Given the description of an element on the screen output the (x, y) to click on. 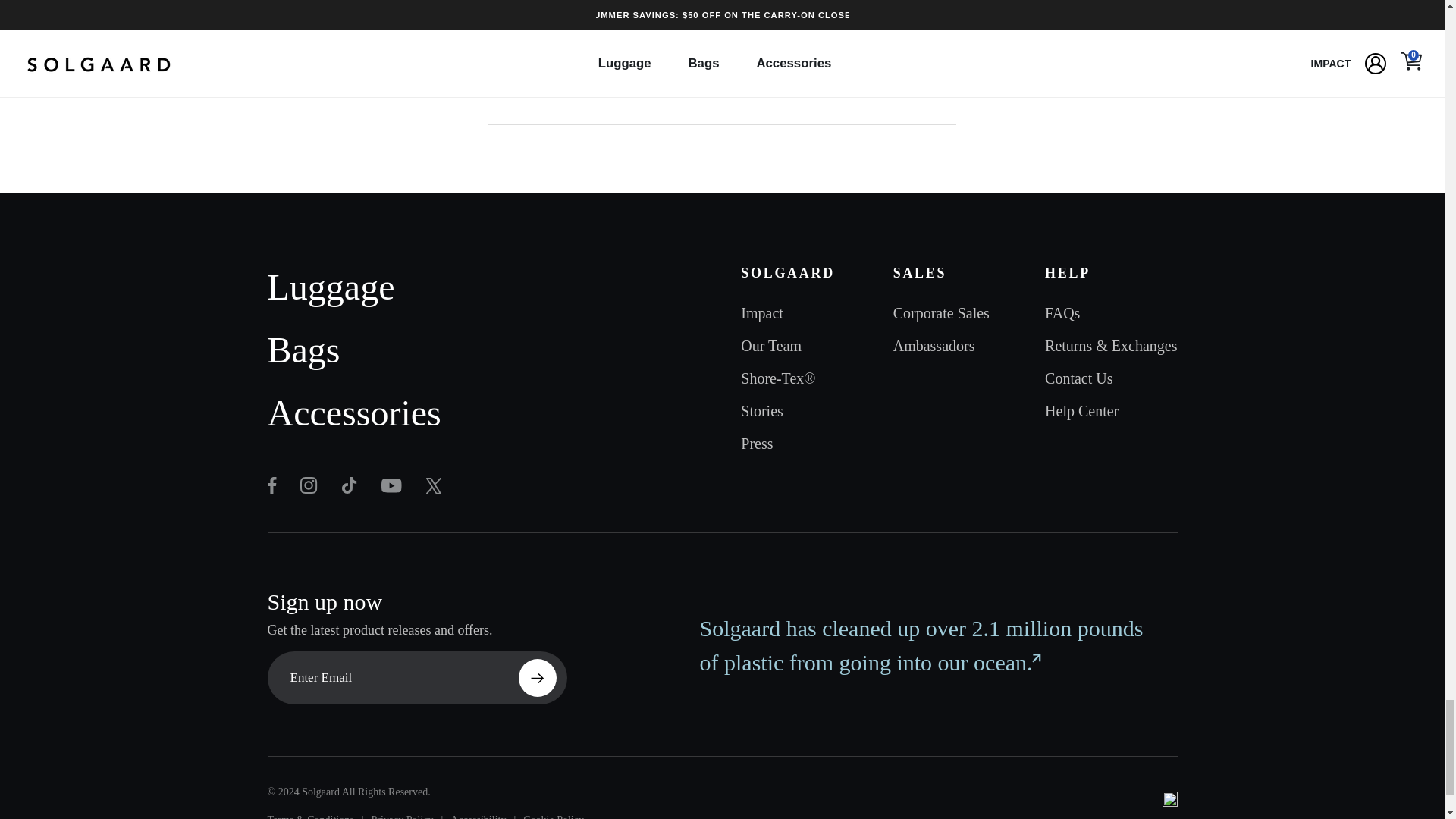
Solgaard Twitter (391, 485)
Solgaard Twitter (308, 484)
Solgaard TikTok (349, 484)
